Given the description of an element on the screen output the (x, y) to click on. 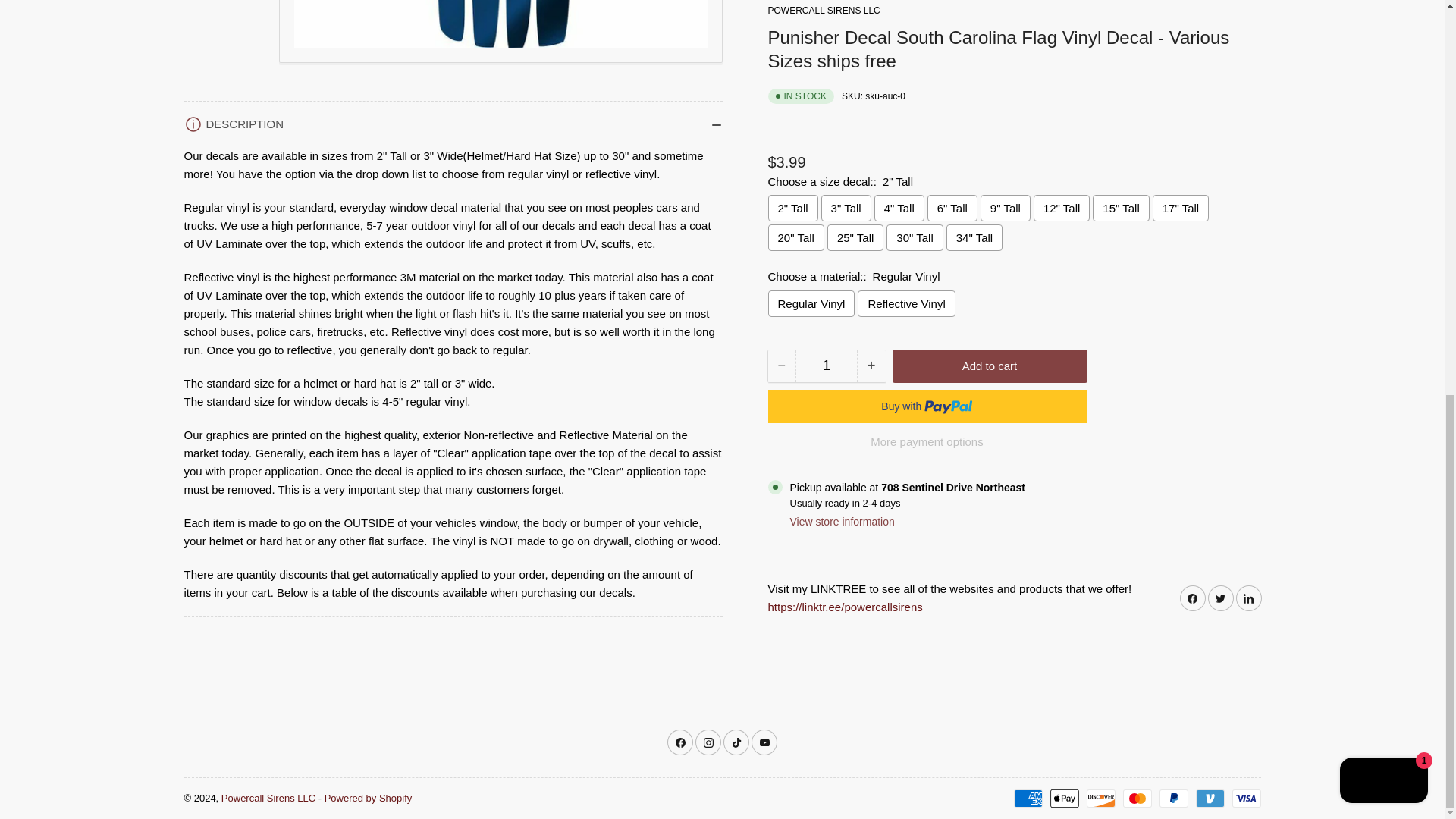
Load image 1 in gallery view (223, 31)
Shopify online store chat (1383, 22)
American Express (1027, 798)
